Given the description of an element on the screen output the (x, y) to click on. 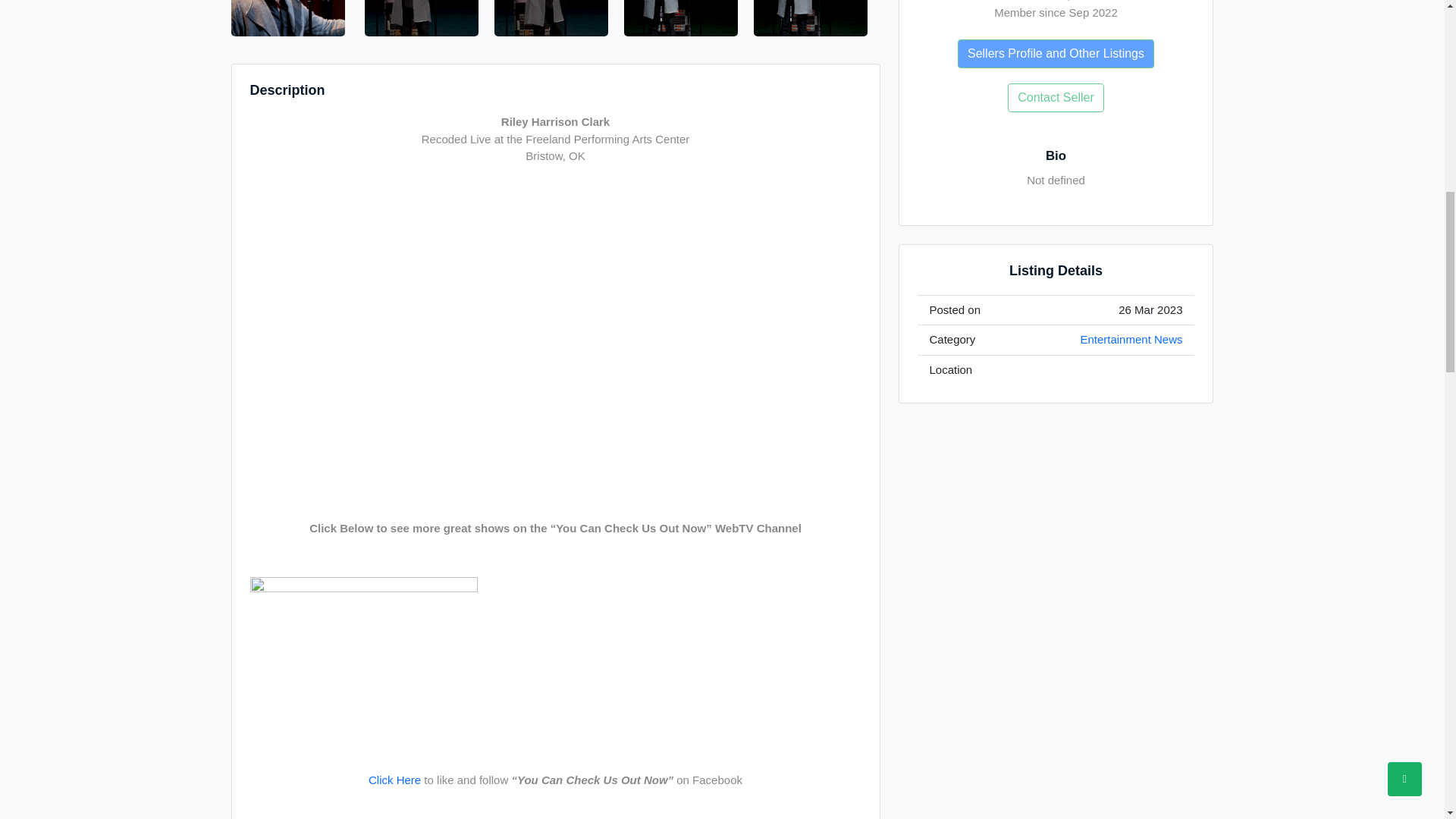
Click Here (394, 780)
